Given the description of an element on the screen output the (x, y) to click on. 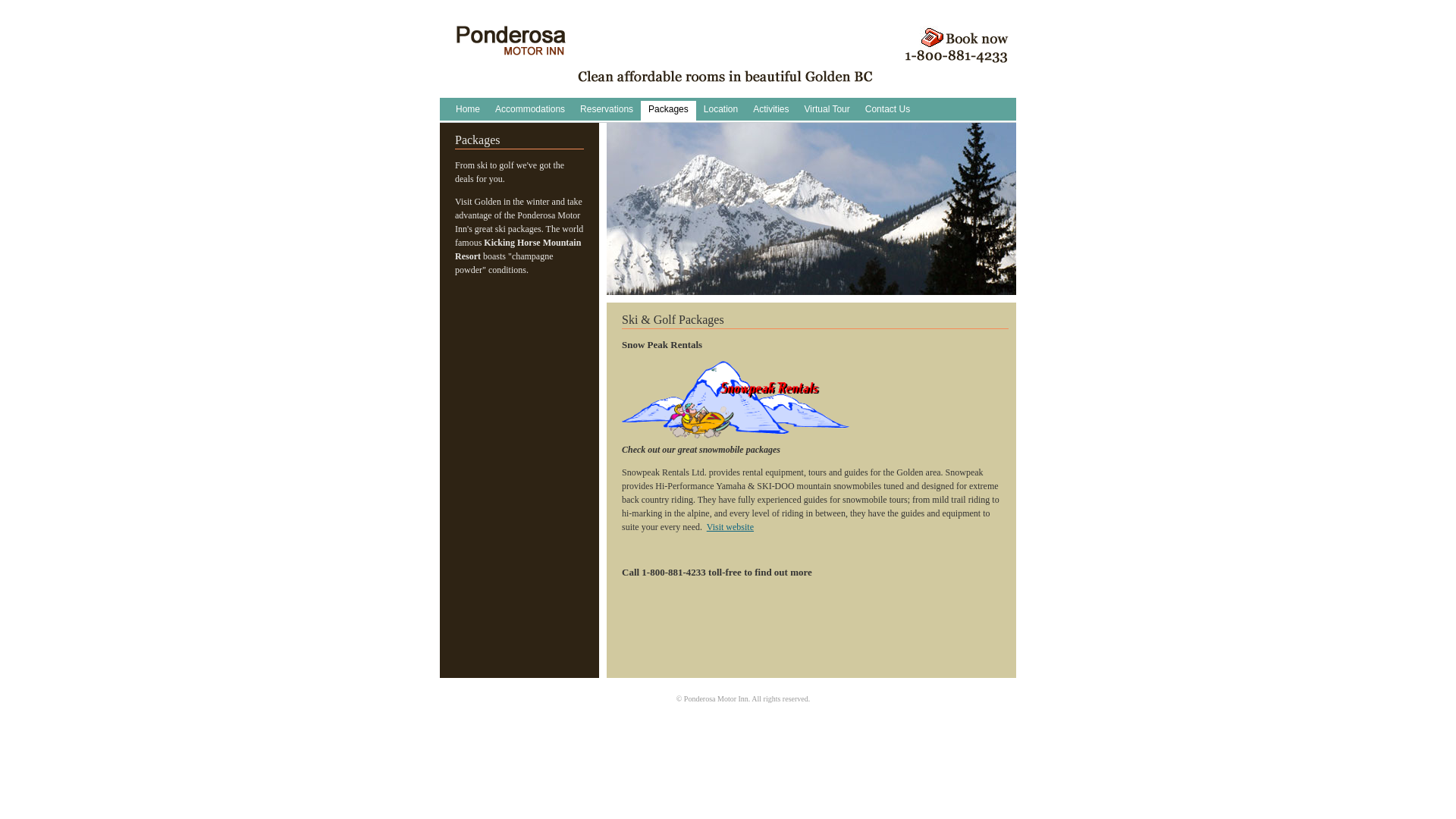
Home Element type: hover (510, 49)
Virtual Tour Element type: text (827, 110)
Location Element type: text (720, 110)
Activities Element type: text (770, 110)
Visit website Element type: text (729, 526)
Accommodations Element type: text (529, 110)
Reservations Element type: text (606, 110)
Contact Us Element type: text (887, 110)
Home Element type: text (467, 110)
